Given the description of an element on the screen output the (x, y) to click on. 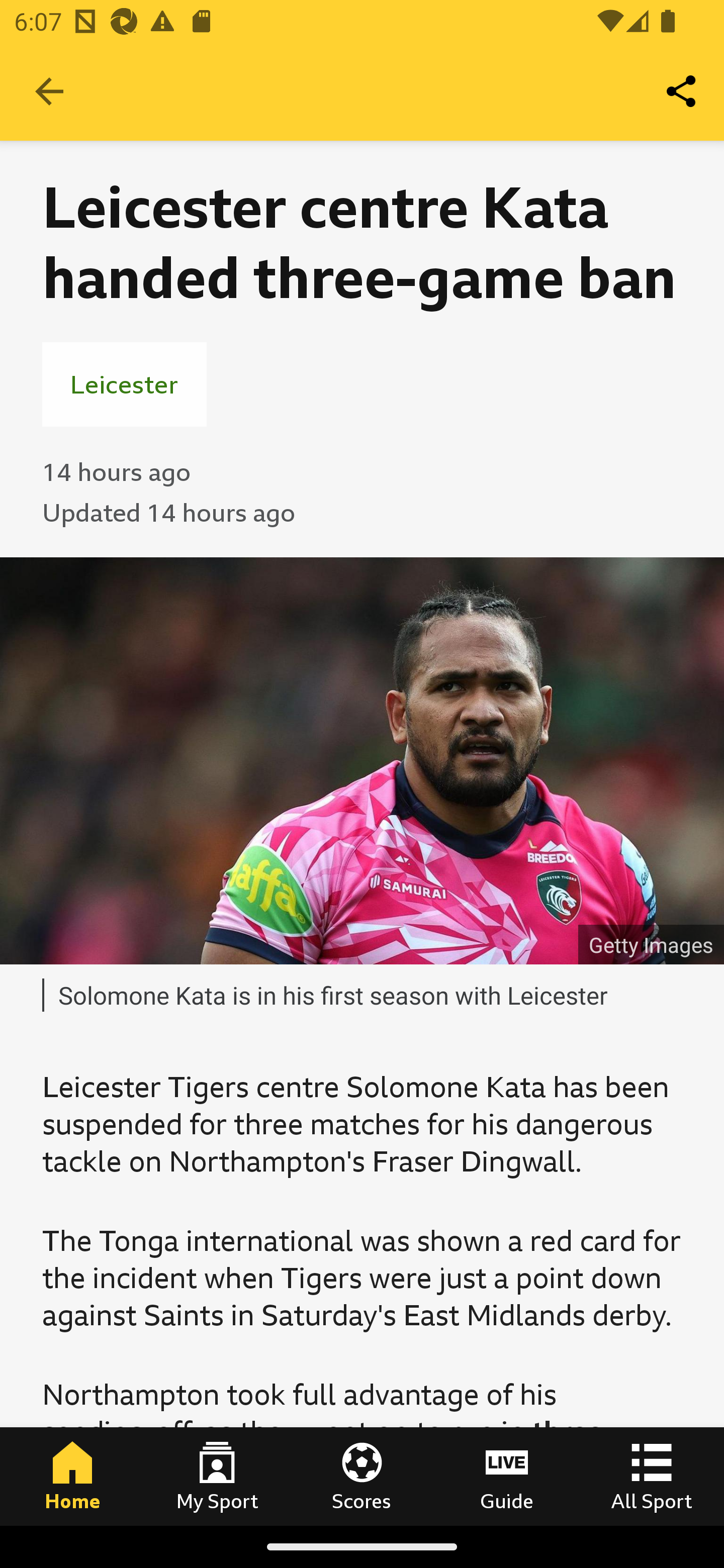
Navigate up (49, 91)
Share (681, 90)
Leicester (123, 383)
My Sport (216, 1475)
Scores (361, 1475)
Guide (506, 1475)
All Sport (651, 1475)
